Given the description of an element on the screen output the (x, y) to click on. 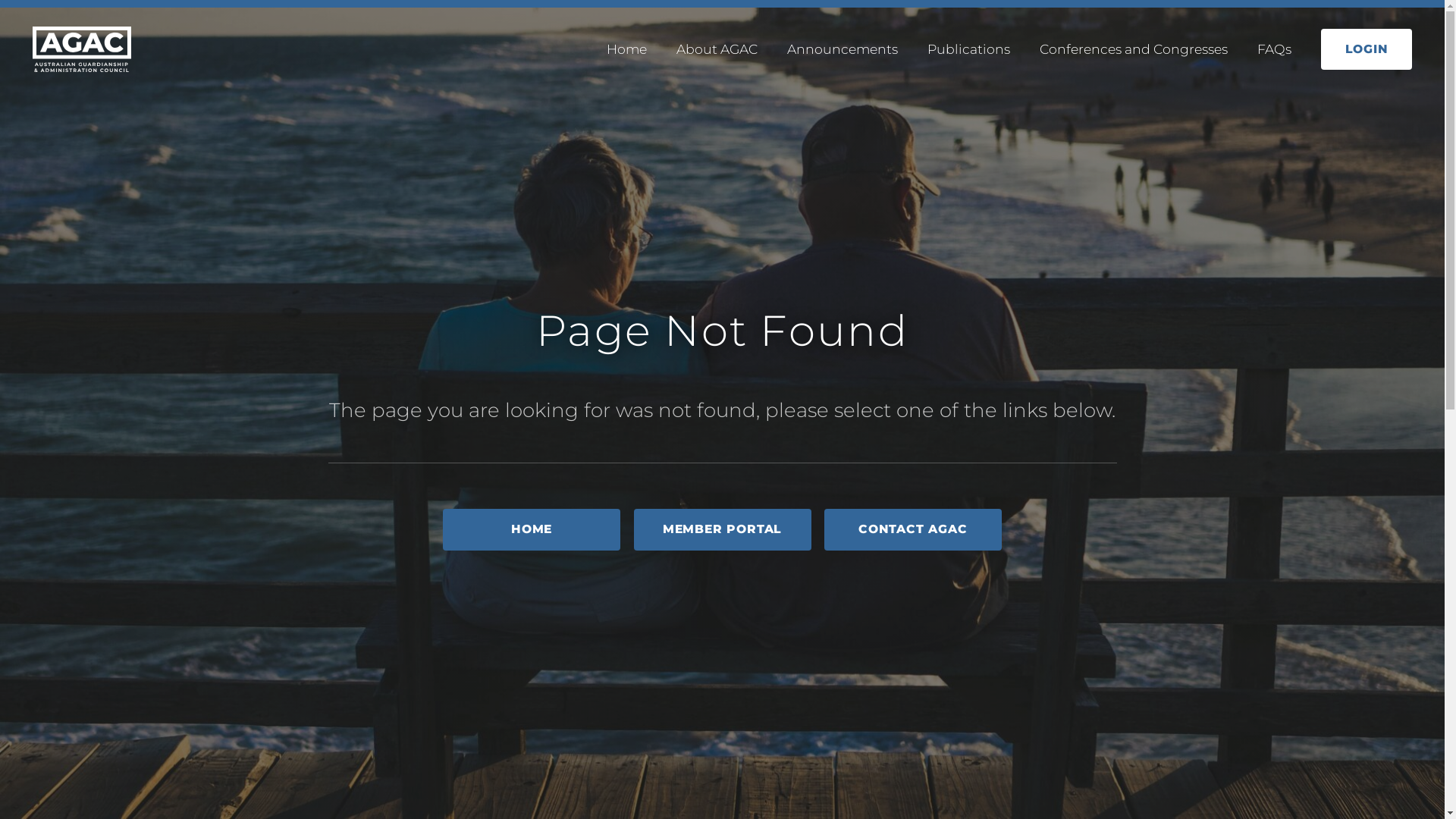
Publications Element type: text (968, 48)
CONTACT AGAC Element type: text (912, 529)
MEMBER PORTAL Element type: text (722, 529)
FAQs Element type: text (1274, 48)
About AGAC Element type: text (716, 48)
Announcements Element type: text (842, 48)
HOME Element type: text (531, 529)
LOGIN Element type: text (1366, 49)
Australian Element type: hover (81, 49)
Conferences and Congresses Element type: text (1133, 48)
Home Element type: text (626, 48)
